Given the description of an element on the screen output the (x, y) to click on. 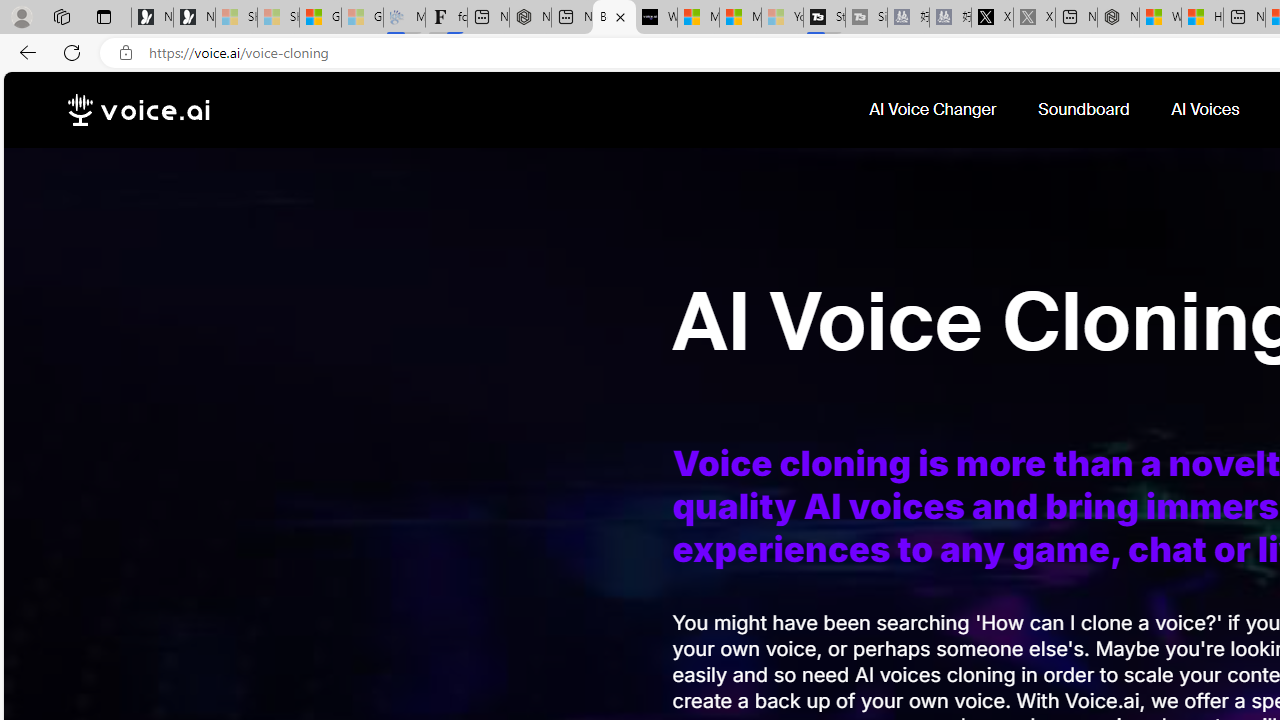
voice.ai (138, 109)
Soundboard  (1086, 109)
